Given the description of an element on the screen output the (x, y) to click on. 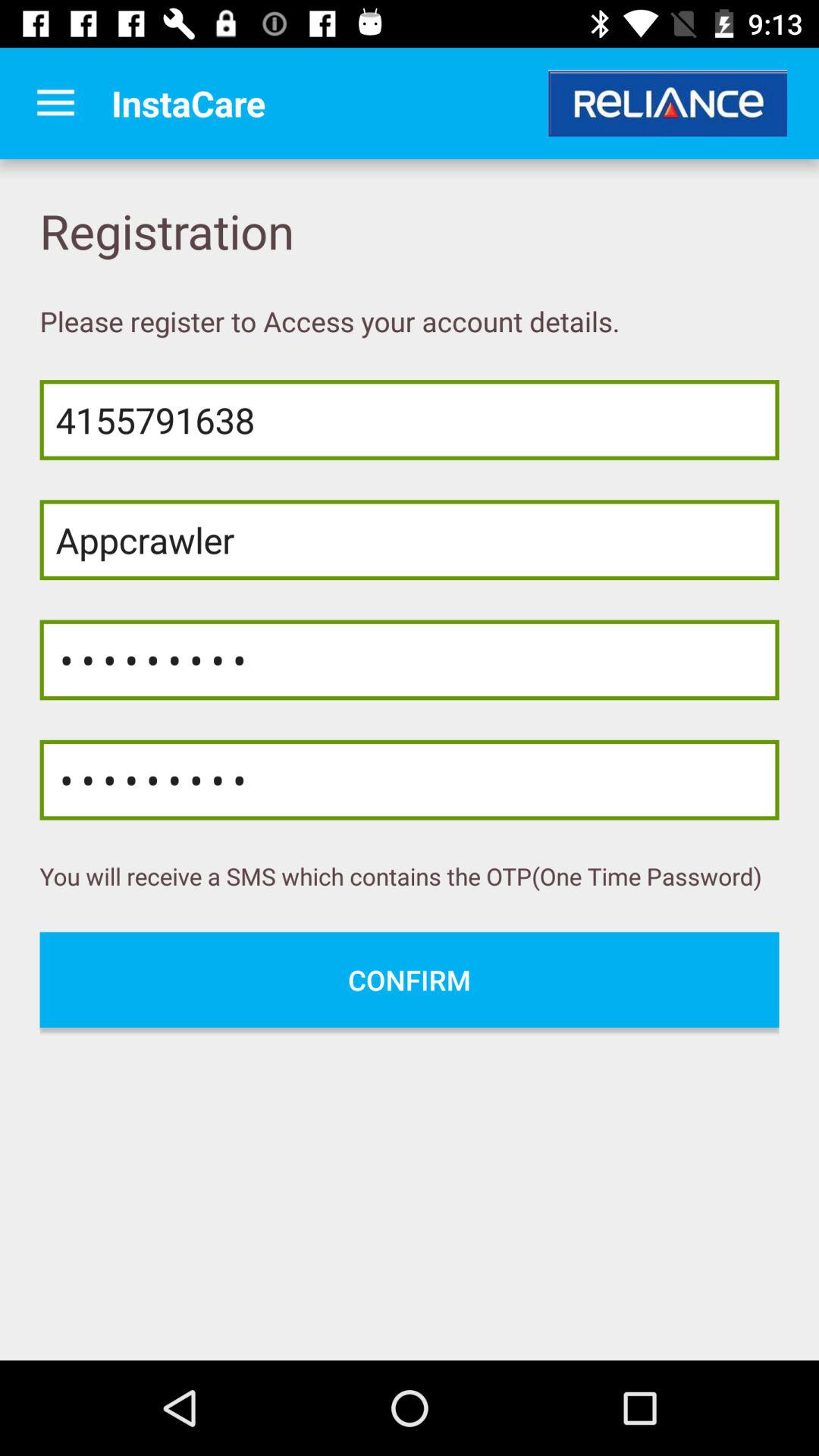
open 4155791638 icon (409, 419)
